Given the description of an element on the screen output the (x, y) to click on. 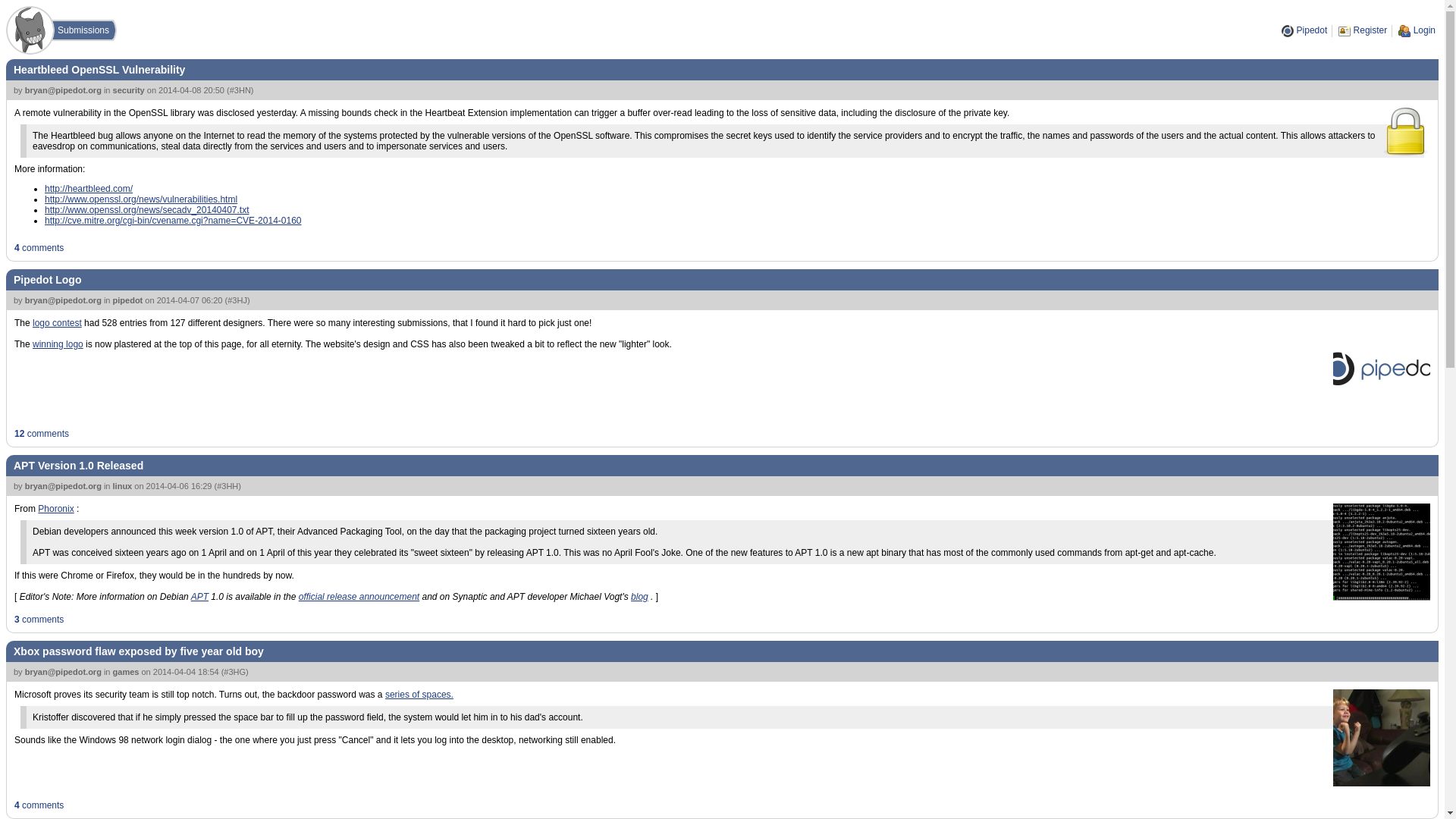
official release announcement (358, 596)
2014-04-08 20:50 (191, 90)
blog (638, 596)
games (126, 671)
Register (1362, 30)
2014-04-07 06:20 (189, 299)
logo contest (56, 322)
Pipedot Logo (47, 279)
4 comments (39, 247)
Xbox password flaw exposed by five year old boy (138, 651)
Login (1416, 30)
12 comments (41, 433)
APT (199, 596)
winning logo (57, 344)
Submissions (82, 29)
